Given the description of an element on the screen output the (x, y) to click on. 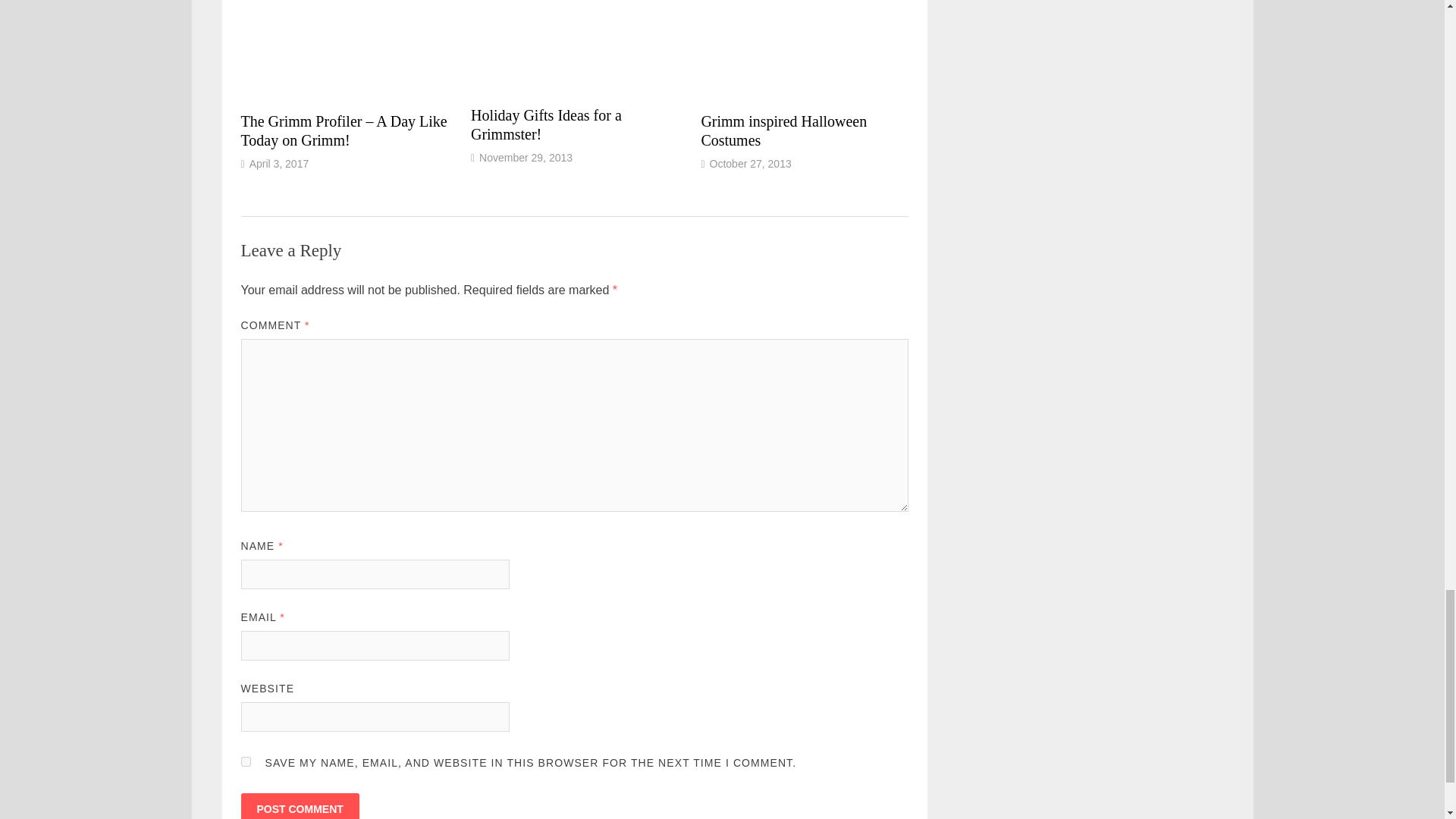
Grimm inspired Halloween Costumes (783, 130)
Post Comment (300, 806)
Holiday Gifts Ideas for a Grimmster! (545, 124)
yes (245, 761)
